Given the description of an element on the screen output the (x, y) to click on. 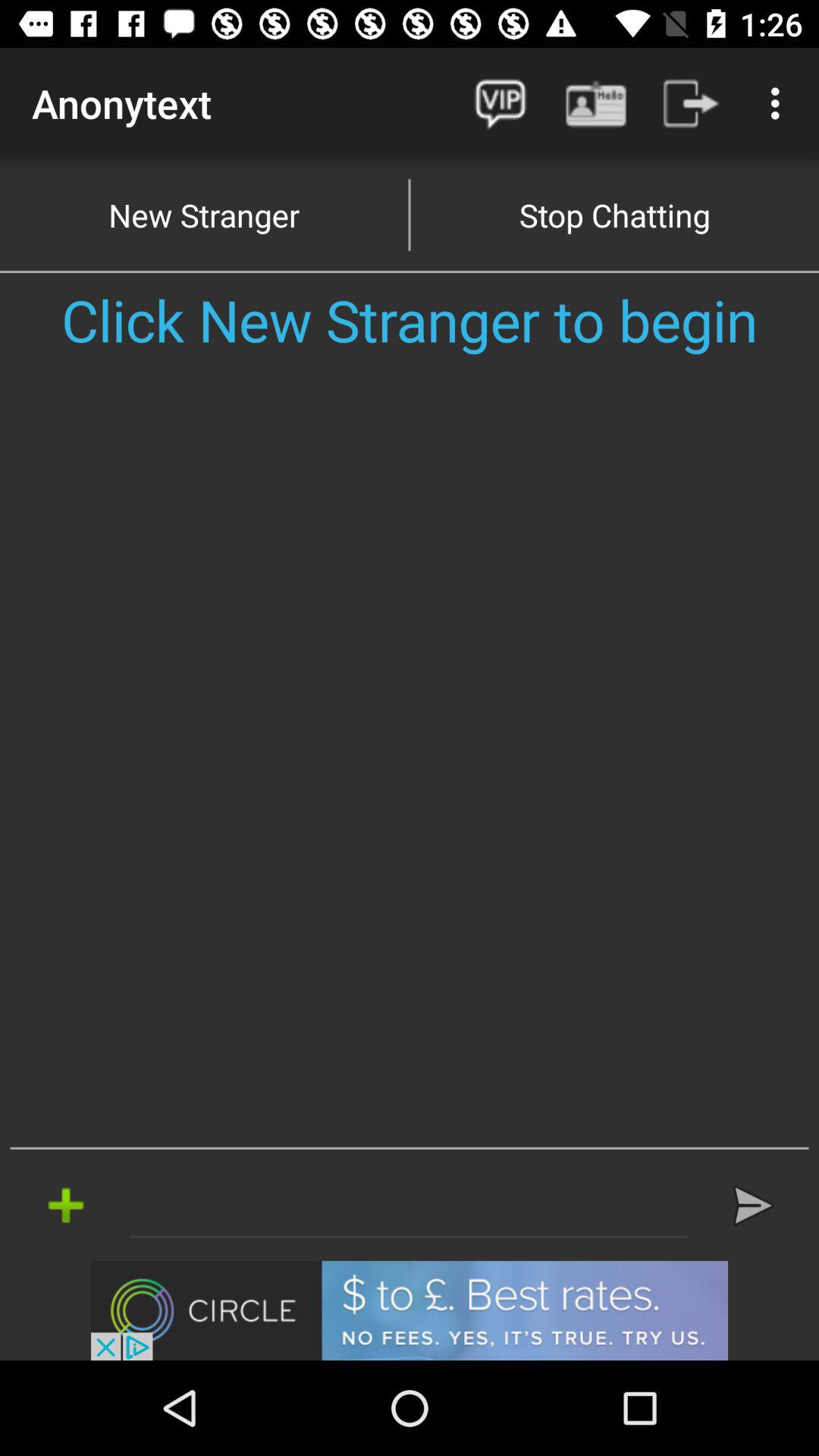
text field (409, 1204)
